Given the description of an element on the screen output the (x, y) to click on. 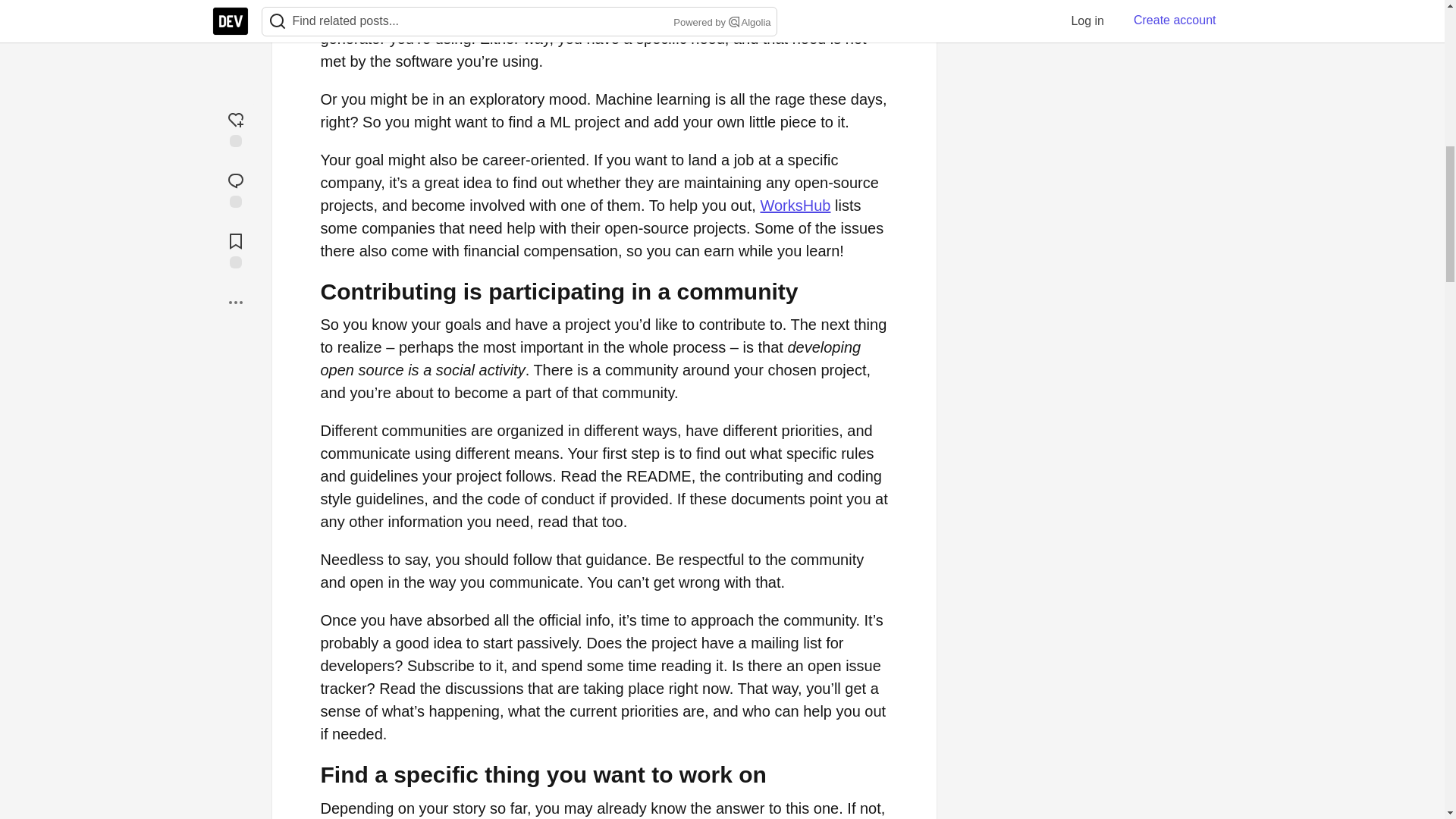
WorksHub (794, 205)
